Given the description of an element on the screen output the (x, y) to click on. 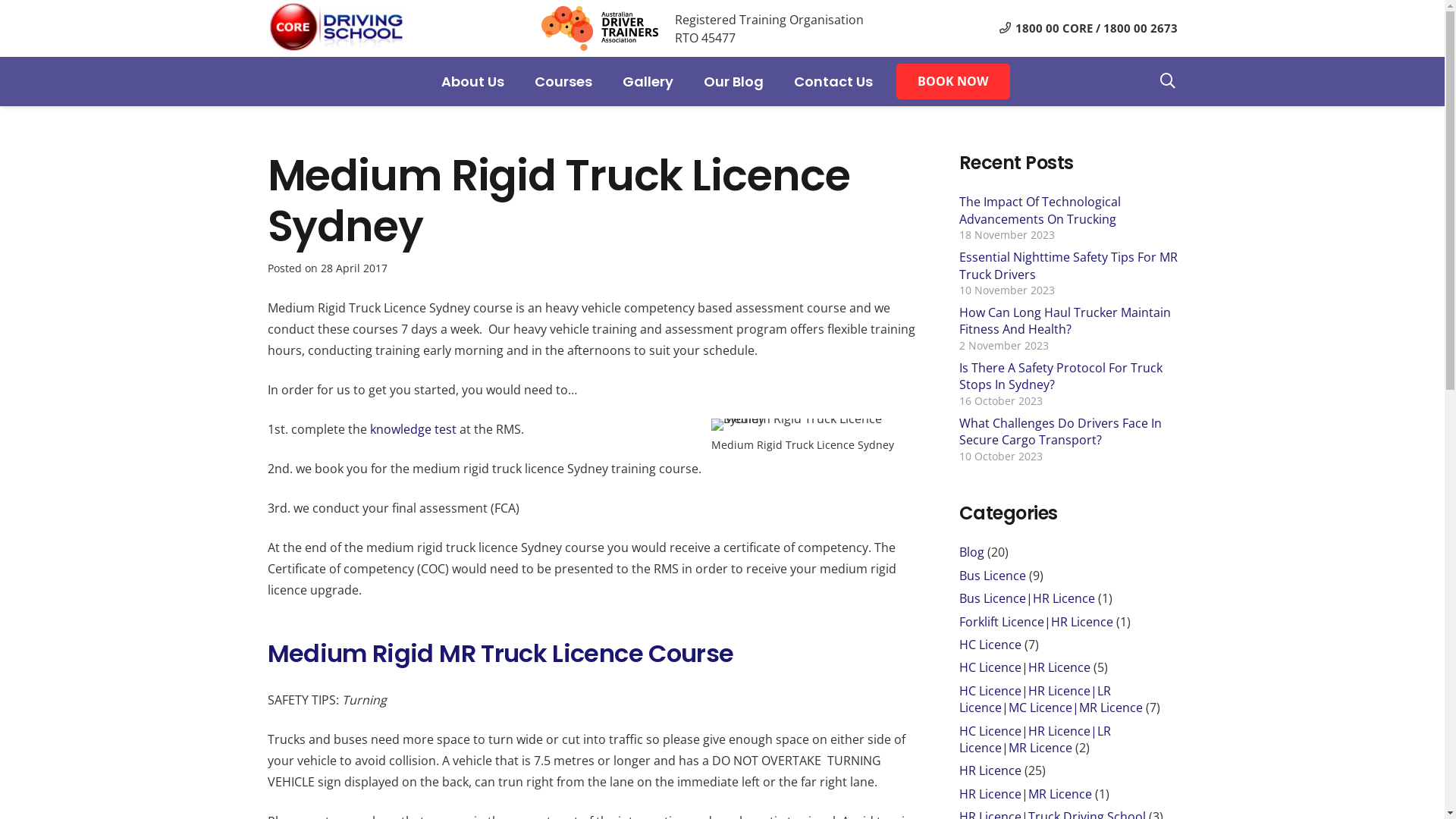
Medium Rigid MR Truck Licence Course Element type: text (499, 653)
Courses Element type: text (562, 81)
Bus Licence|HR Licence Element type: text (1026, 597)
HC Licence|HR Licence|LR Licence|MR Licence Element type: text (1034, 739)
About Us Element type: text (472, 81)
Essential Nighttime Safety Tips For MR Truck Drivers Element type: text (1067, 265)
Contact Us Element type: text (832, 81)
HR Licence|MR Licence Element type: text (1024, 793)
What Challenges Do Drivers Face In Secure Cargo Transport? Element type: text (1059, 431)
Bus Licence Element type: text (991, 575)
HC Licence|HR Licence Element type: text (1023, 666)
HR Licence Element type: text (989, 770)
knowledge test Element type: text (413, 428)
1800 00 CORE / 1800 00 2673 Element type: text (1088, 27)
Blog Element type: text (970, 551)
HC Licence|HR Licence|LR Licence|MC Licence|MR Licence Element type: text (1050, 698)
BOOK NOW Element type: text (953, 81)
Is There A Safety Protocol For Truck Stops In Sydney? Element type: text (1059, 375)
The Impact Of Technological Advancements On Trucking Element type: text (1039, 209)
Forklift Licence|HR Licence Element type: text (1035, 621)
How Can Long Haul Trucker Maintain Fitness And Health? Element type: text (1064, 320)
Our Blog Element type: text (733, 81)
Gallery Element type: text (646, 81)
HC Licence Element type: text (989, 644)
